Given the description of an element on the screen output the (x, y) to click on. 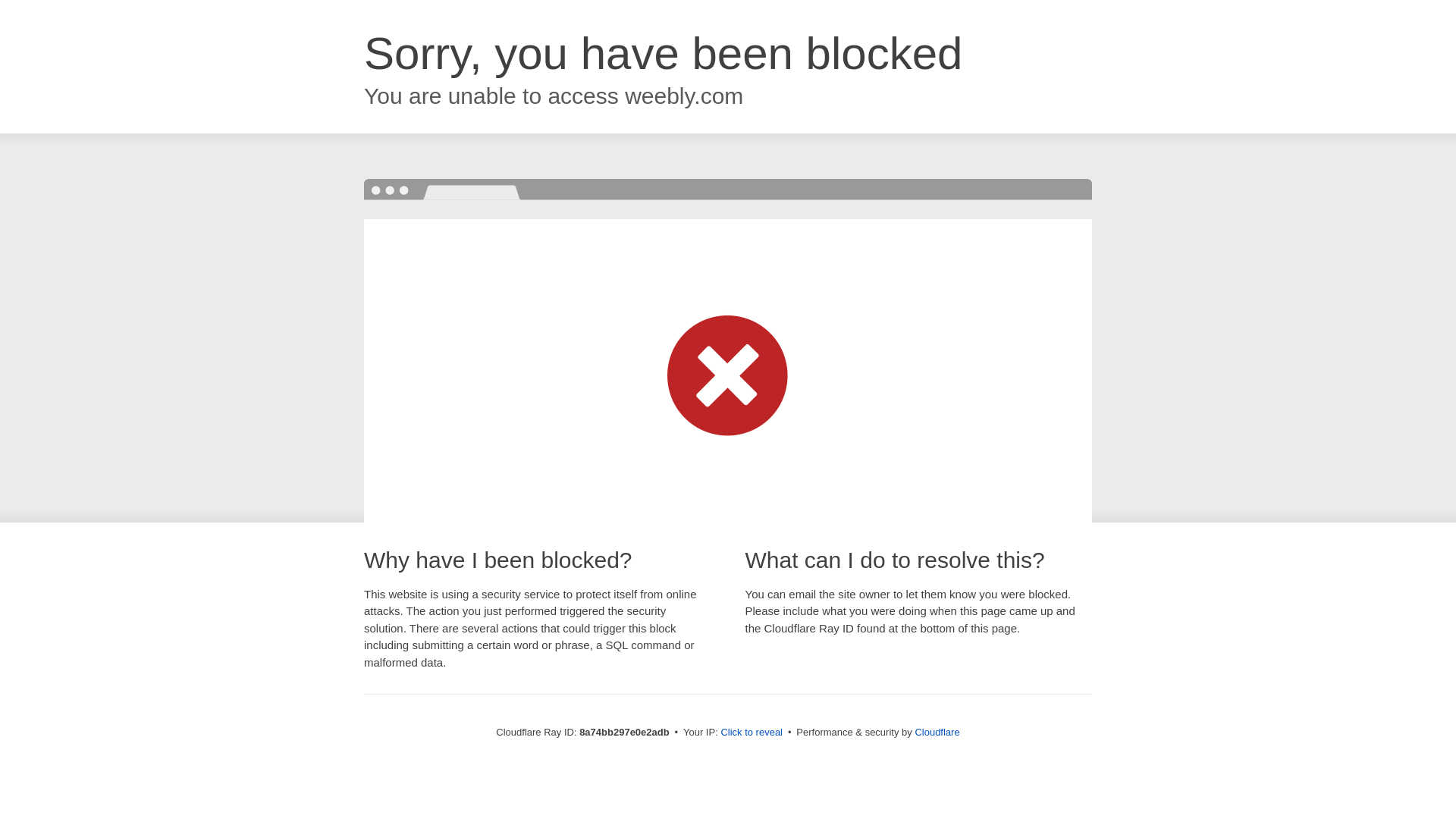
Click to reveal (751, 732)
Cloudflare (936, 731)
